Given the description of an element on the screen output the (x, y) to click on. 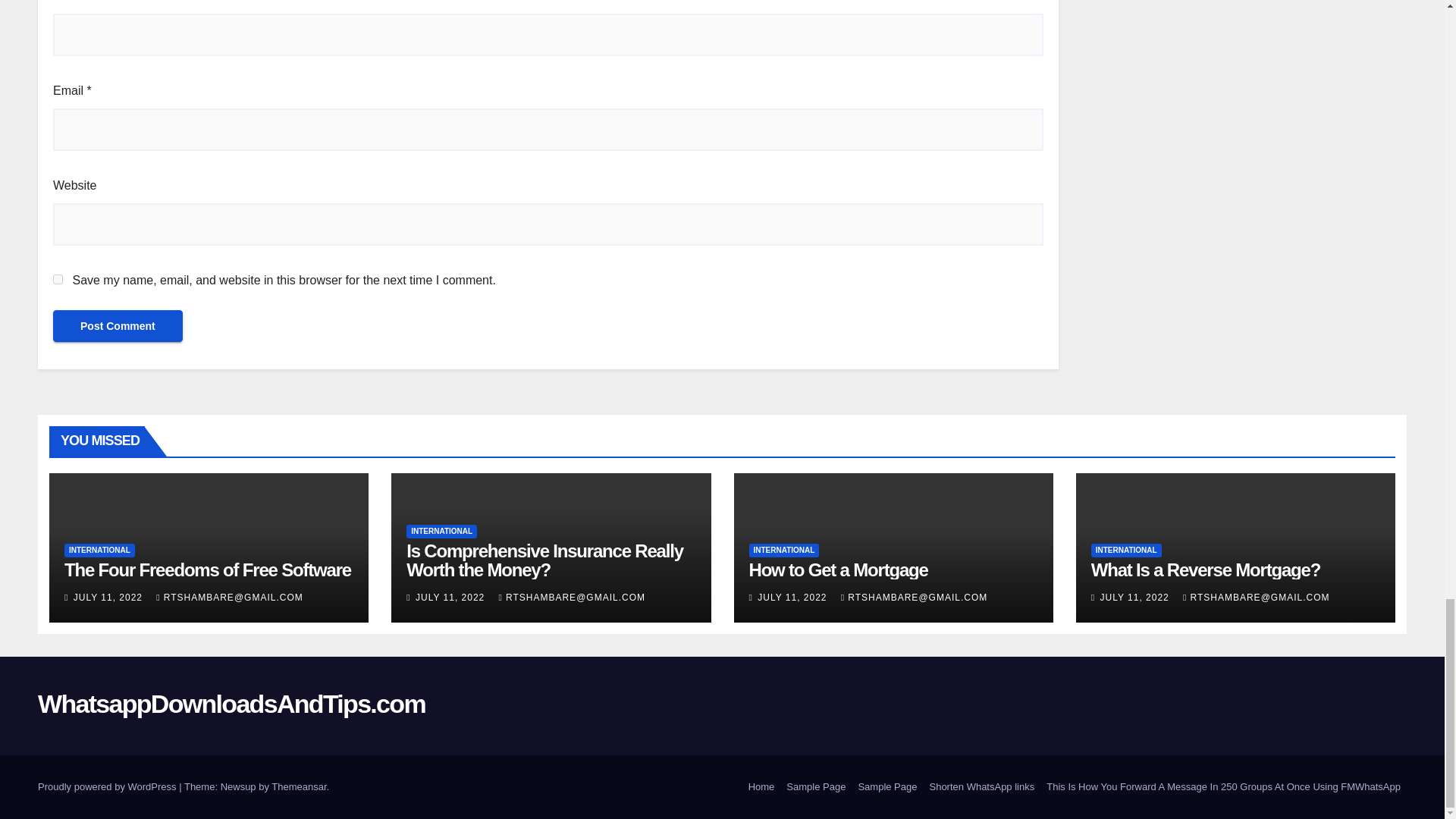
Post Comment (117, 326)
Permalink to: How to Get a Mortgage (838, 569)
Home (761, 786)
yes (57, 279)
Permalink to: The Four Freedoms of Free Software (207, 569)
Permalink to: What Is a Reverse Mortgage? (1205, 569)
